Given the description of an element on the screen output the (x, y) to click on. 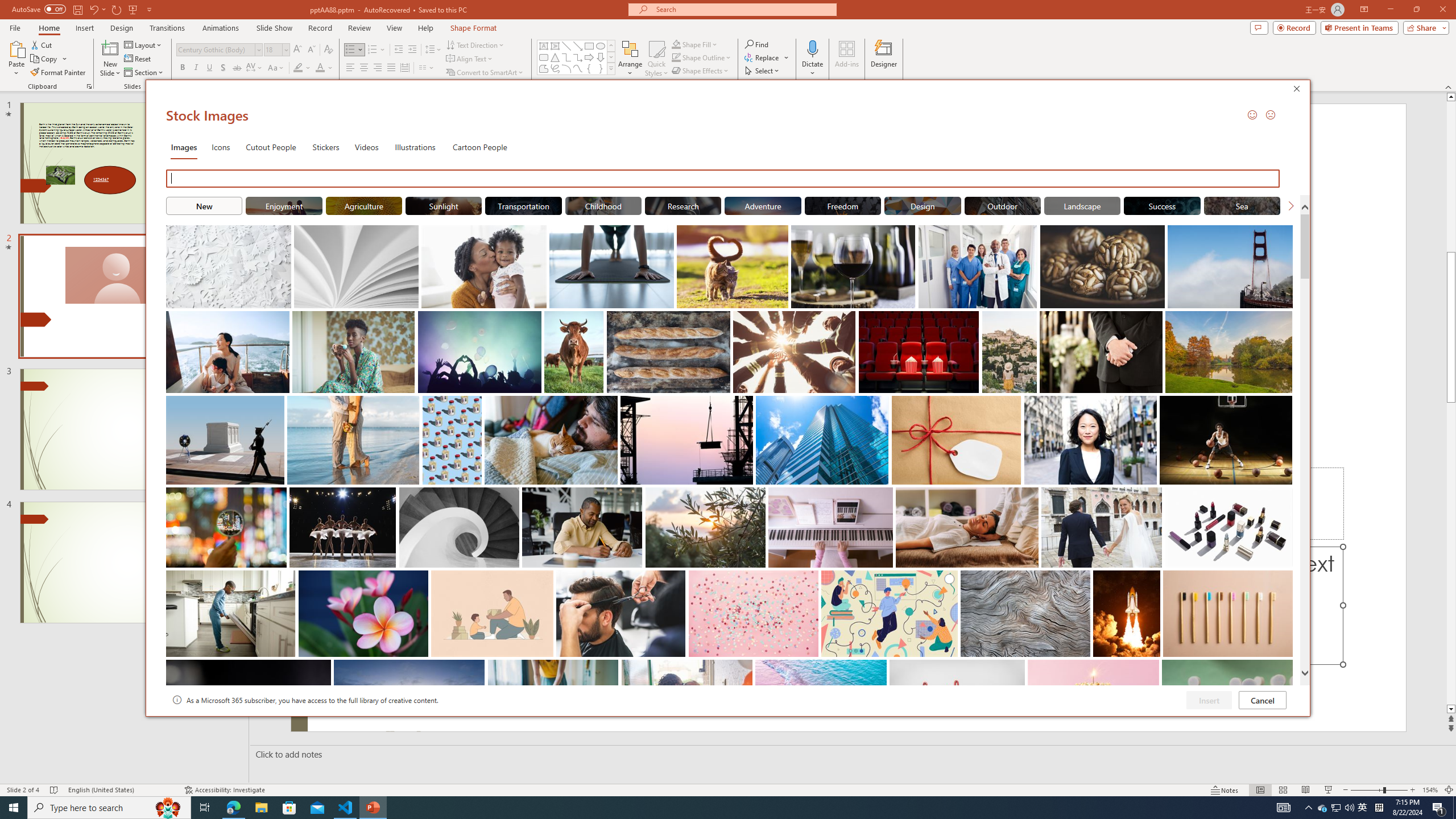
"Enjoyment" Stock Images. (283, 205)
Search Stock Images (725, 178)
Running applications (700, 807)
Stickers (326, 146)
